Given the description of an element on the screen output the (x, y) to click on. 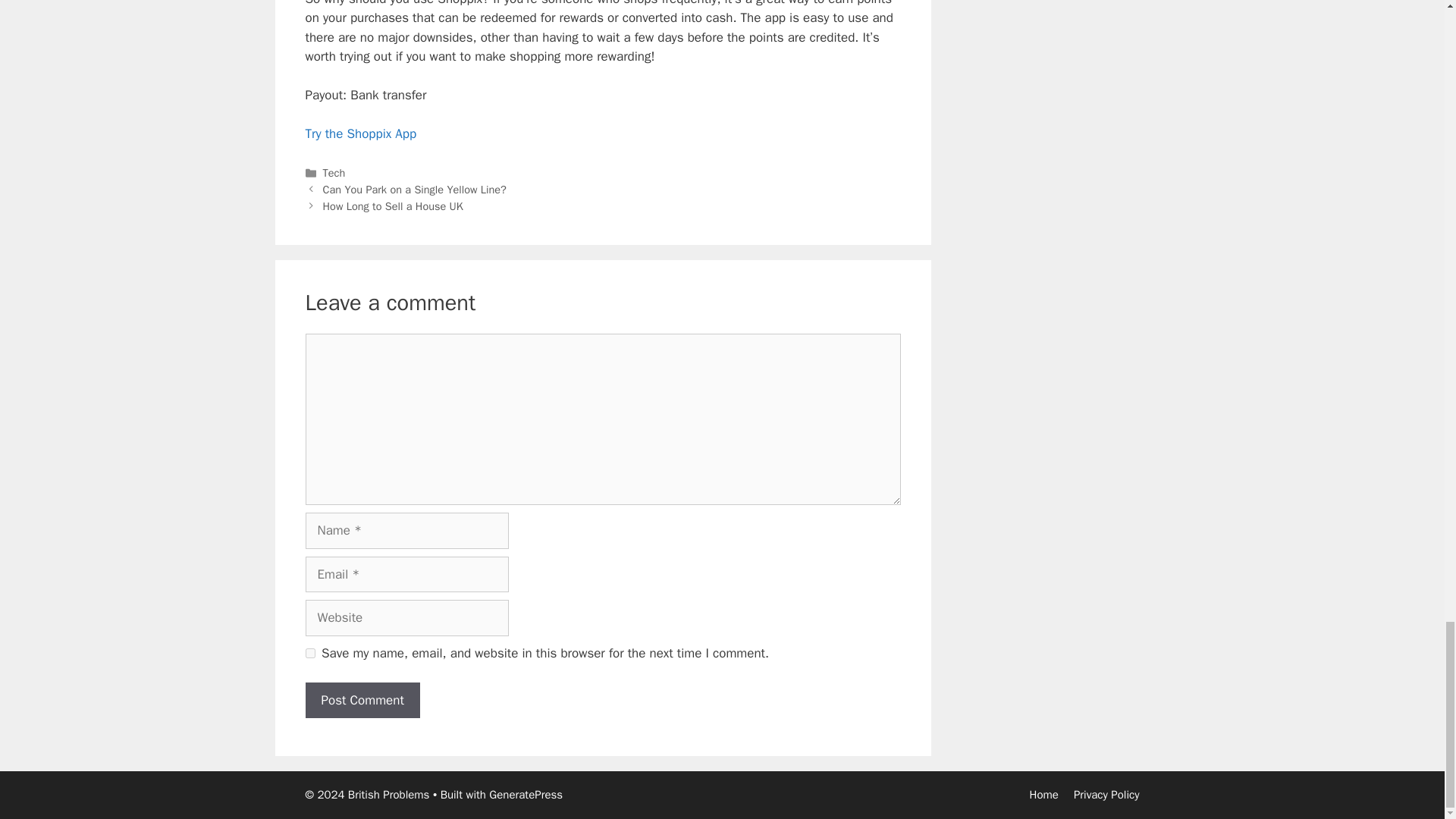
Can You Park on a Single Yellow Line? (414, 189)
Privacy Policy (1107, 794)
Home (1043, 794)
How Long to Sell a House UK (393, 205)
Tech (334, 172)
yes (309, 653)
GeneratePress (525, 794)
Post Comment (361, 700)
Try the Shoppix App (360, 133)
Post Comment (361, 700)
